Given the description of an element on the screen output the (x, y) to click on. 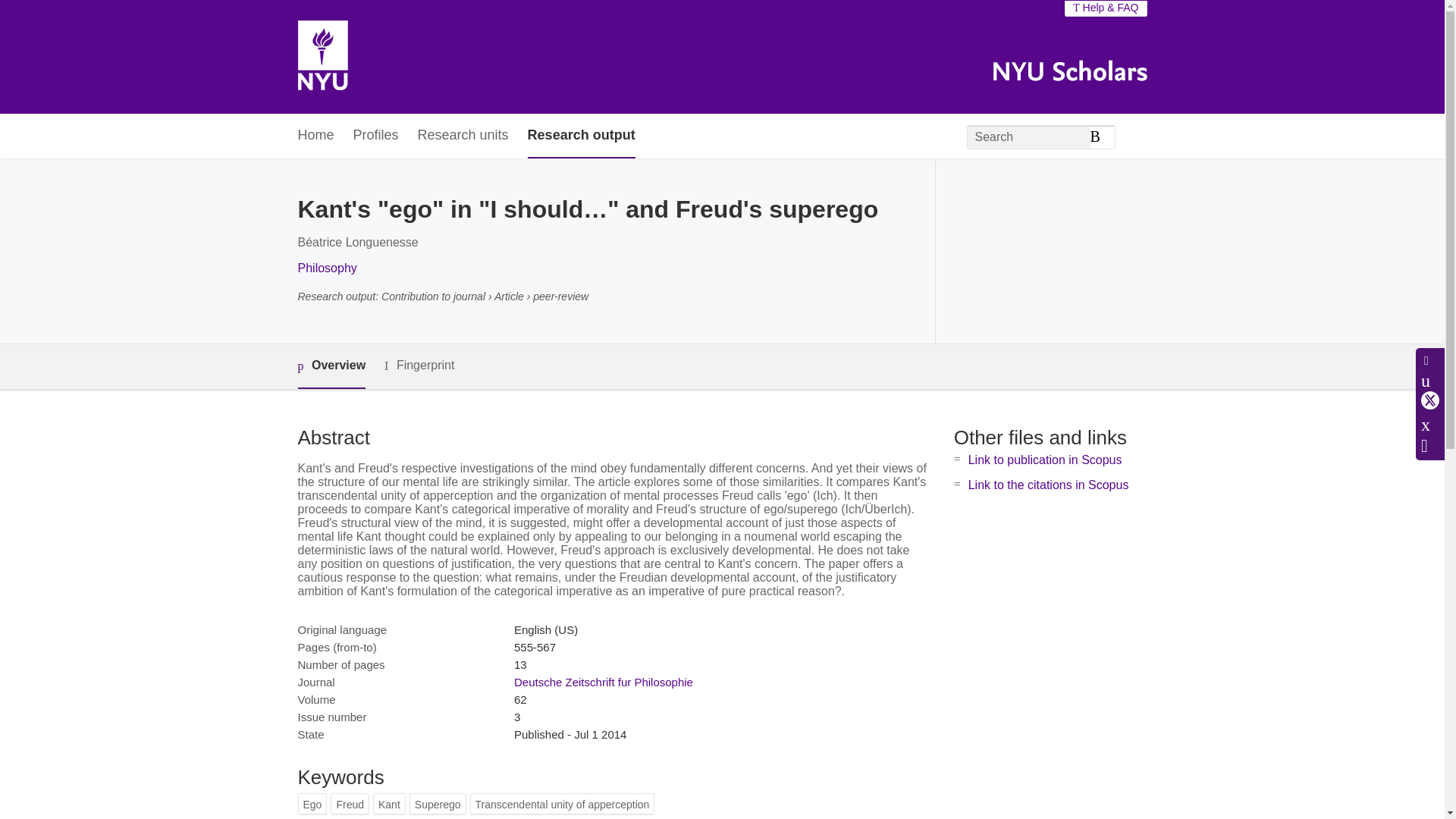
Link to the citations in Scopus (1048, 484)
Overview (331, 366)
Link to publication in Scopus (1045, 459)
Philosophy (326, 267)
Profiles (375, 135)
Fingerprint (419, 365)
Research units (462, 135)
NYU Scholars Home (322, 56)
Deutsche Zeitschrift fur Philosophie (603, 681)
Home (315, 135)
Research output (580, 135)
